Given the description of an element on the screen output the (x, y) to click on. 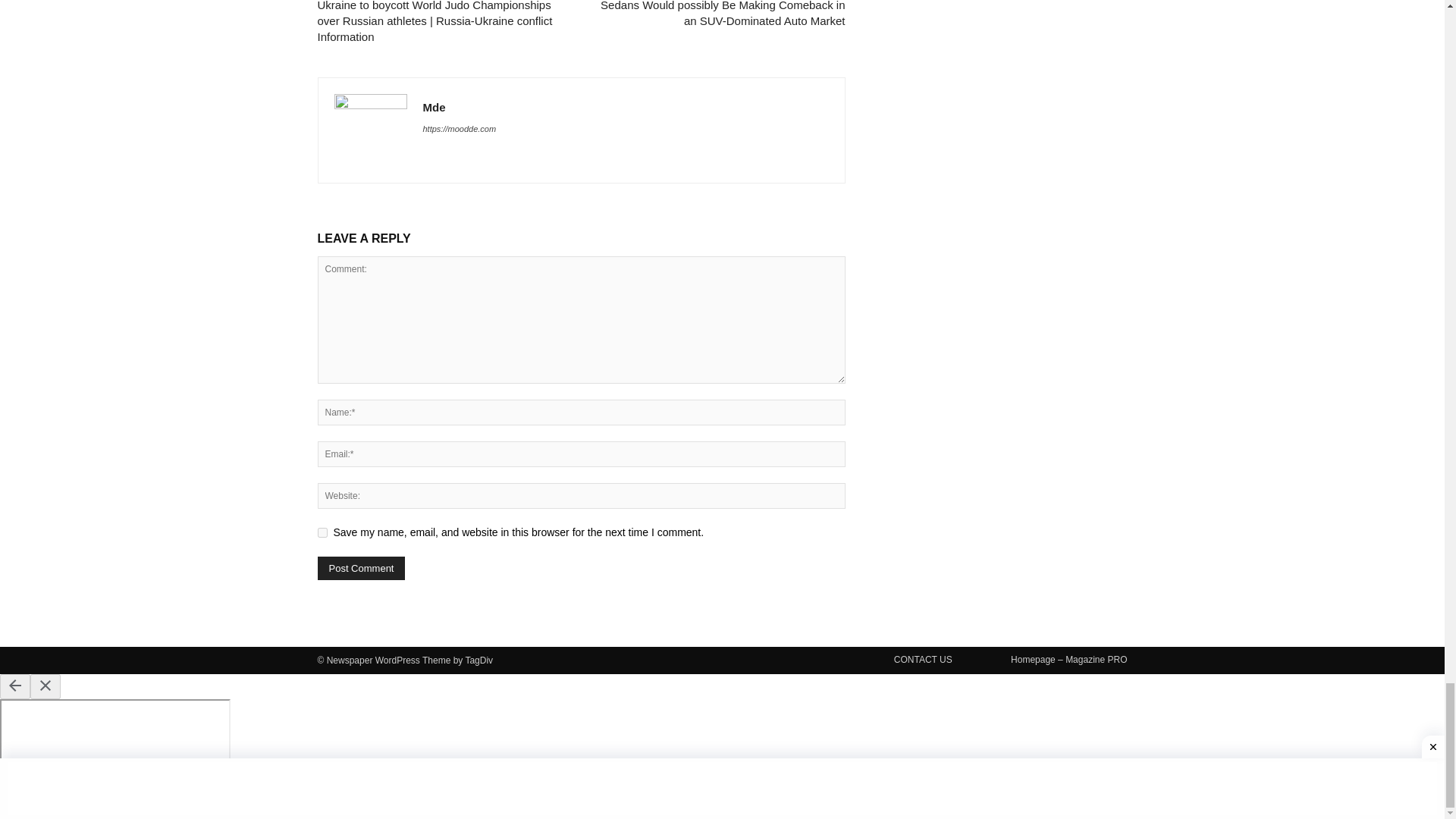
yes (321, 532)
Post Comment (360, 567)
